Given the description of an element on the screen output the (x, y) to click on. 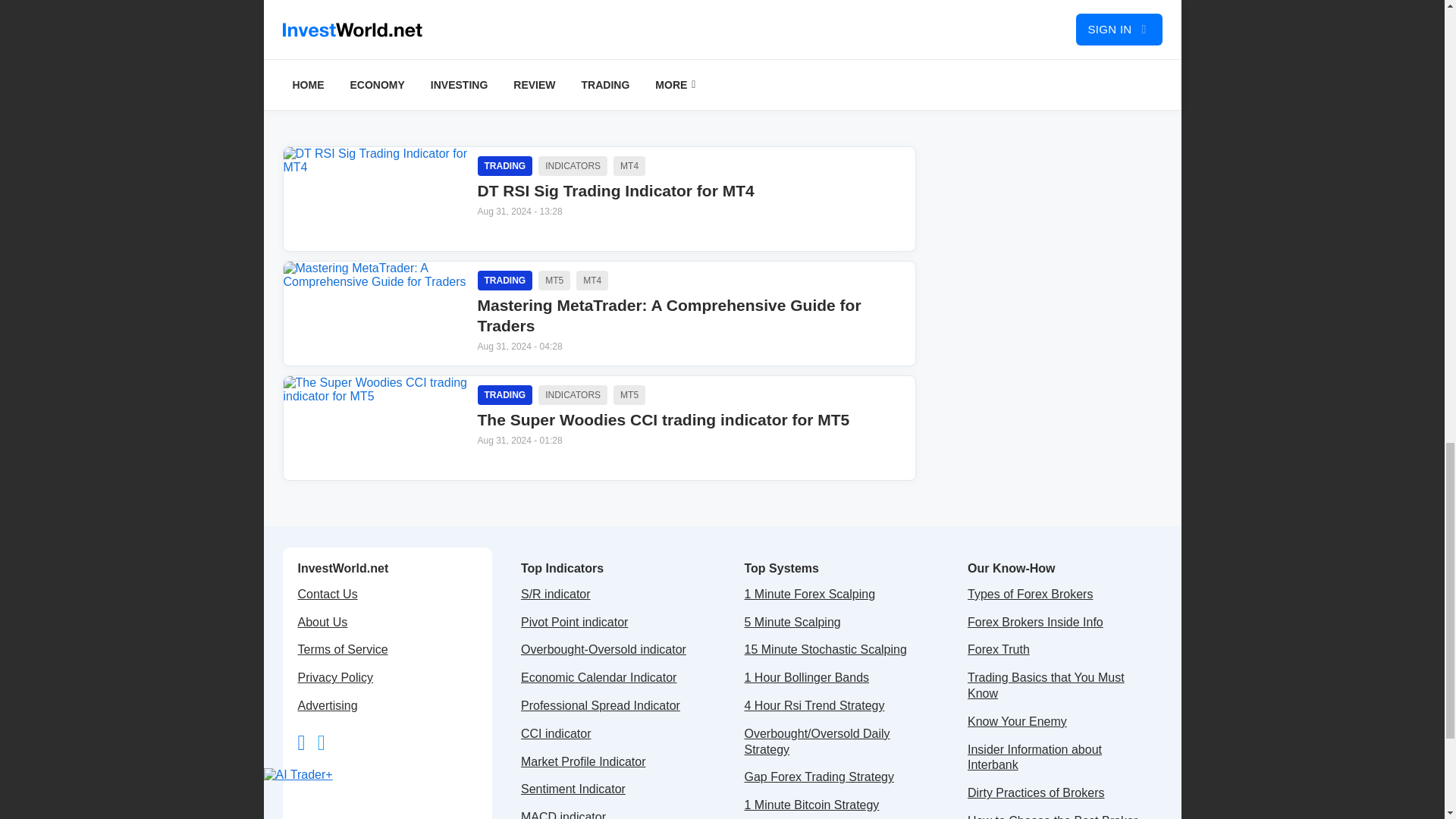
TRADING (504, 166)
MT4 (592, 280)
TRADING (504, 280)
INDICATORS (572, 166)
MT5 (628, 394)
TRADING (504, 394)
MT4 (691, 232)
INDICATORS (628, 166)
